Given the description of an element on the screen output the (x, y) to click on. 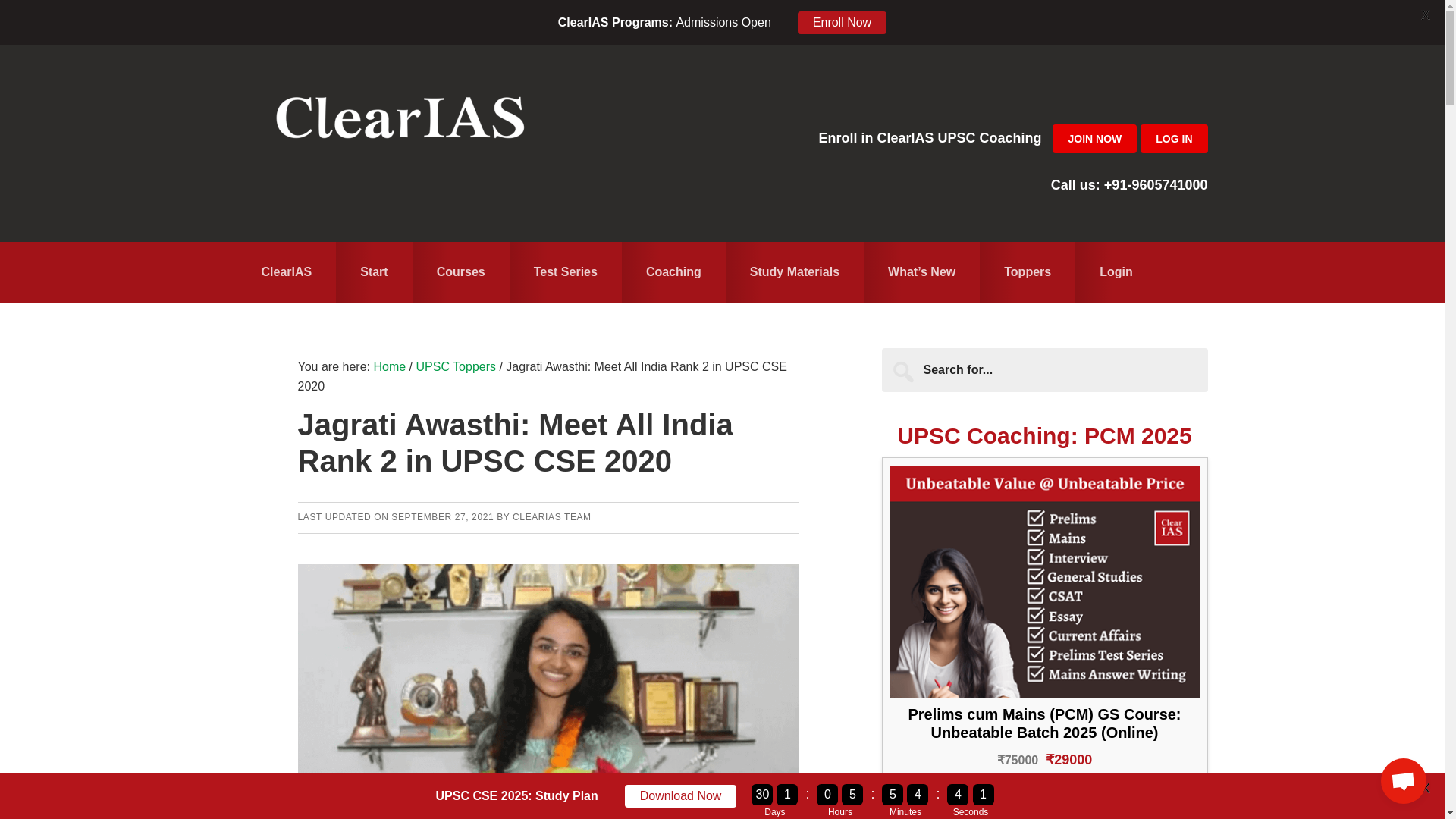
UPSC Test Series (565, 271)
Test Series (565, 271)
Start (374, 271)
ClearIAS (398, 120)
Home (285, 271)
JOIN NOW (1094, 138)
ClearIAS (285, 271)
Study Materials (794, 271)
Courses (460, 271)
ClearIAS Courses (460, 271)
LOG IN (1173, 138)
Coaching (673, 271)
